Given the description of an element on the screen output the (x, y) to click on. 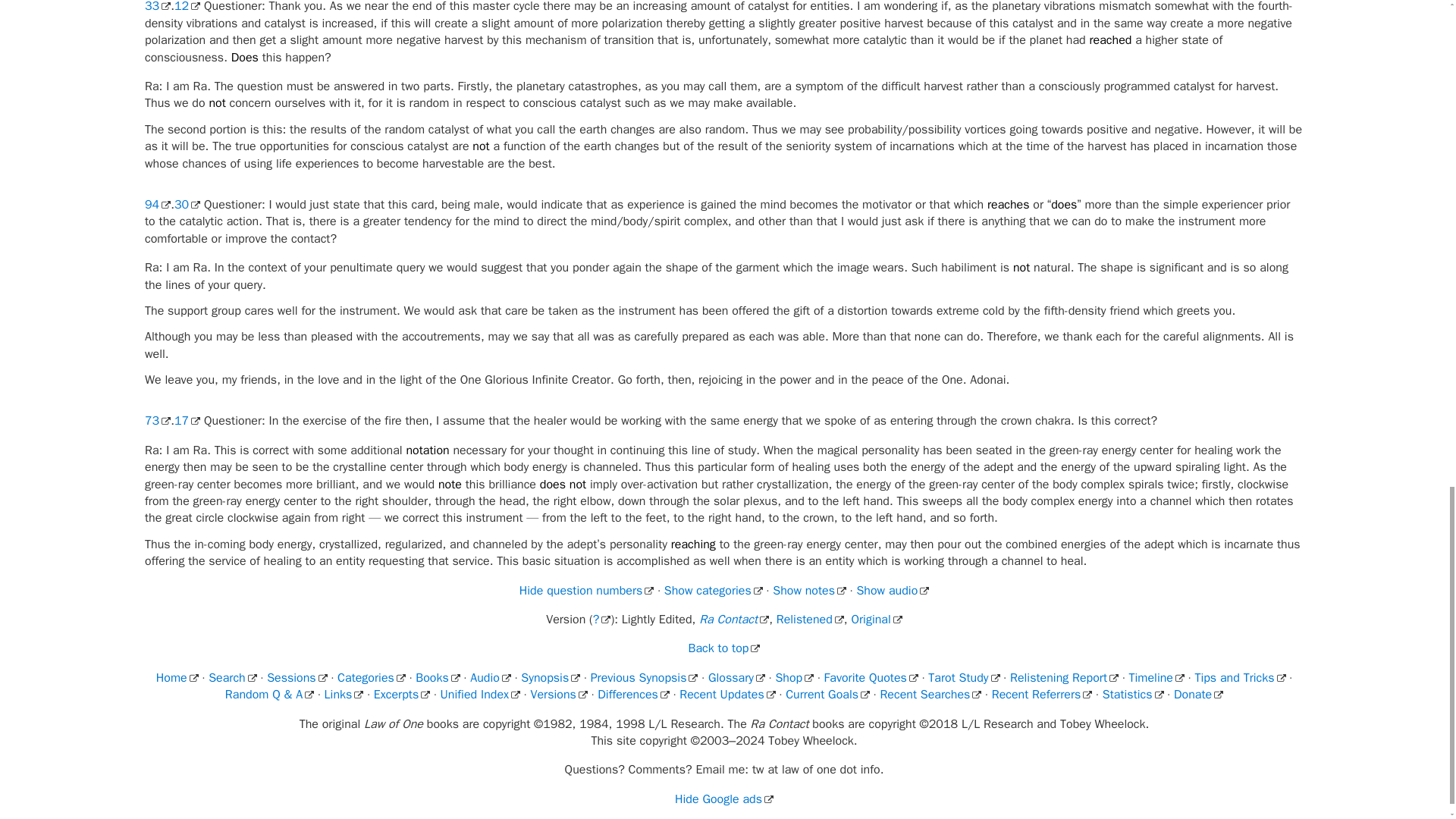
12 (187, 6)
94 (157, 204)
33 (157, 6)
30 (187, 204)
